Given the description of an element on the screen output the (x, y) to click on. 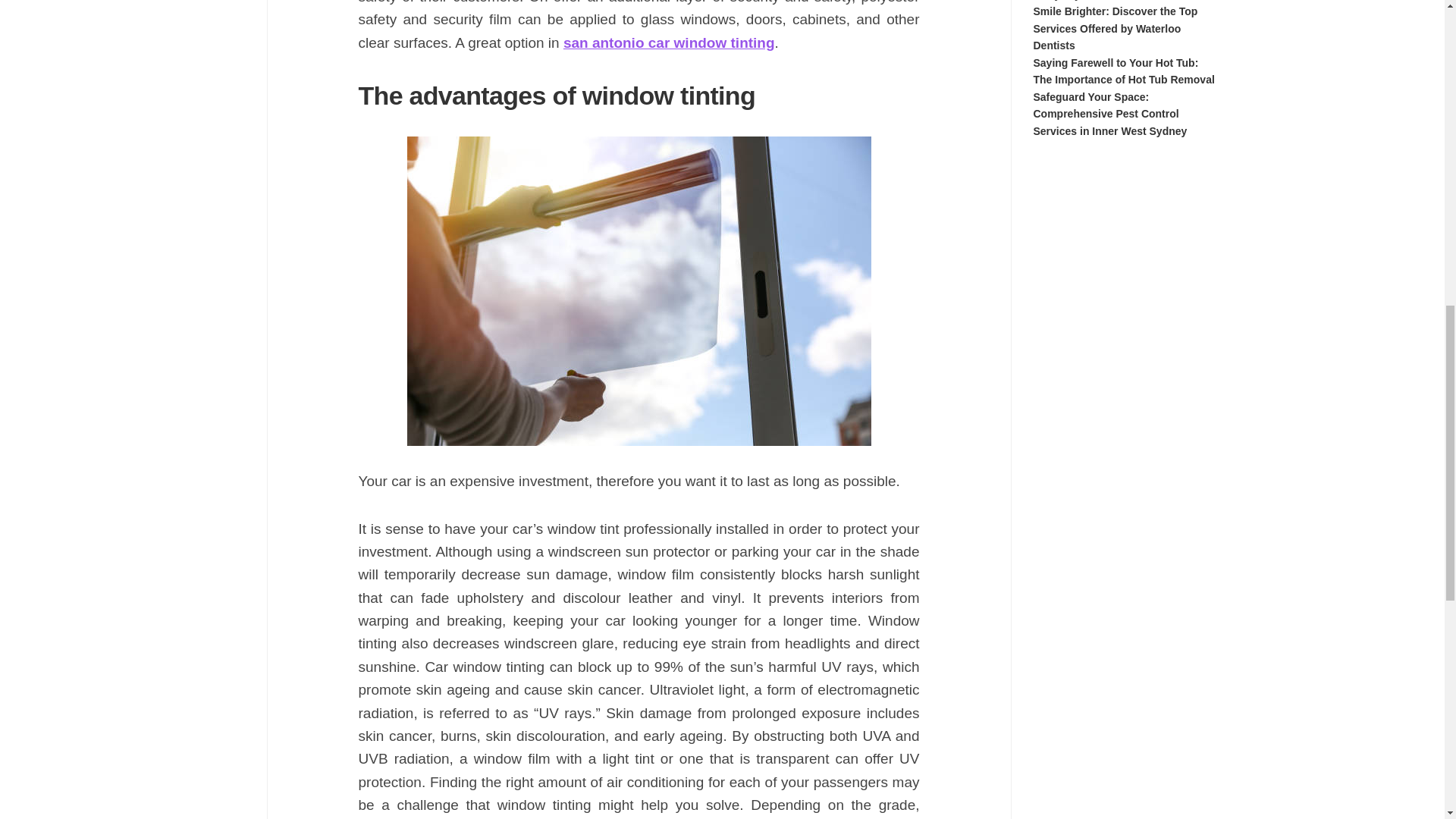
san antonio car window tinting (668, 42)
